Given the description of an element on the screen output the (x, y) to click on. 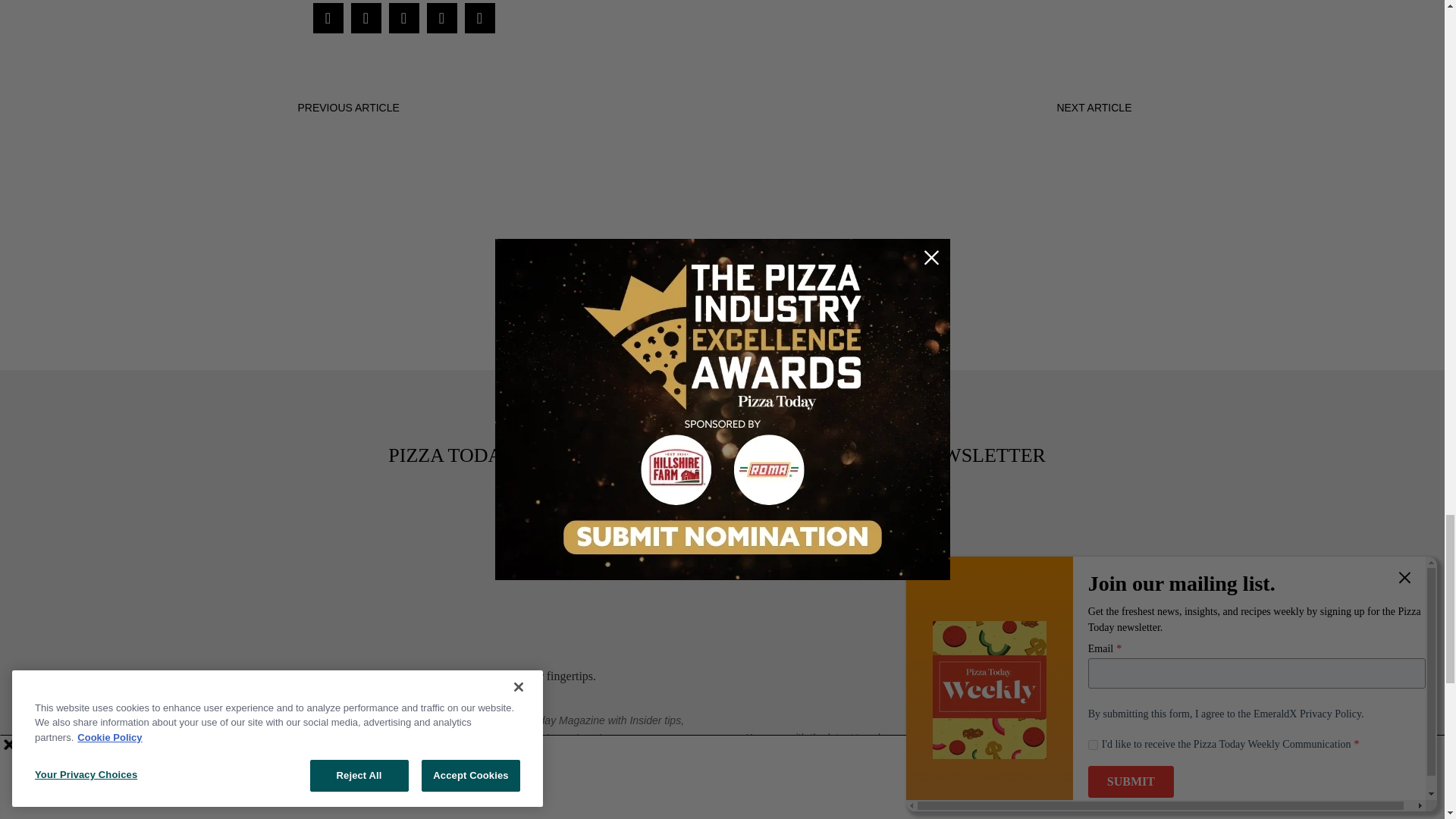
3rd party ad content (722, 181)
3rd party ad content (721, 306)
